Given the description of an element on the screen output the (x, y) to click on. 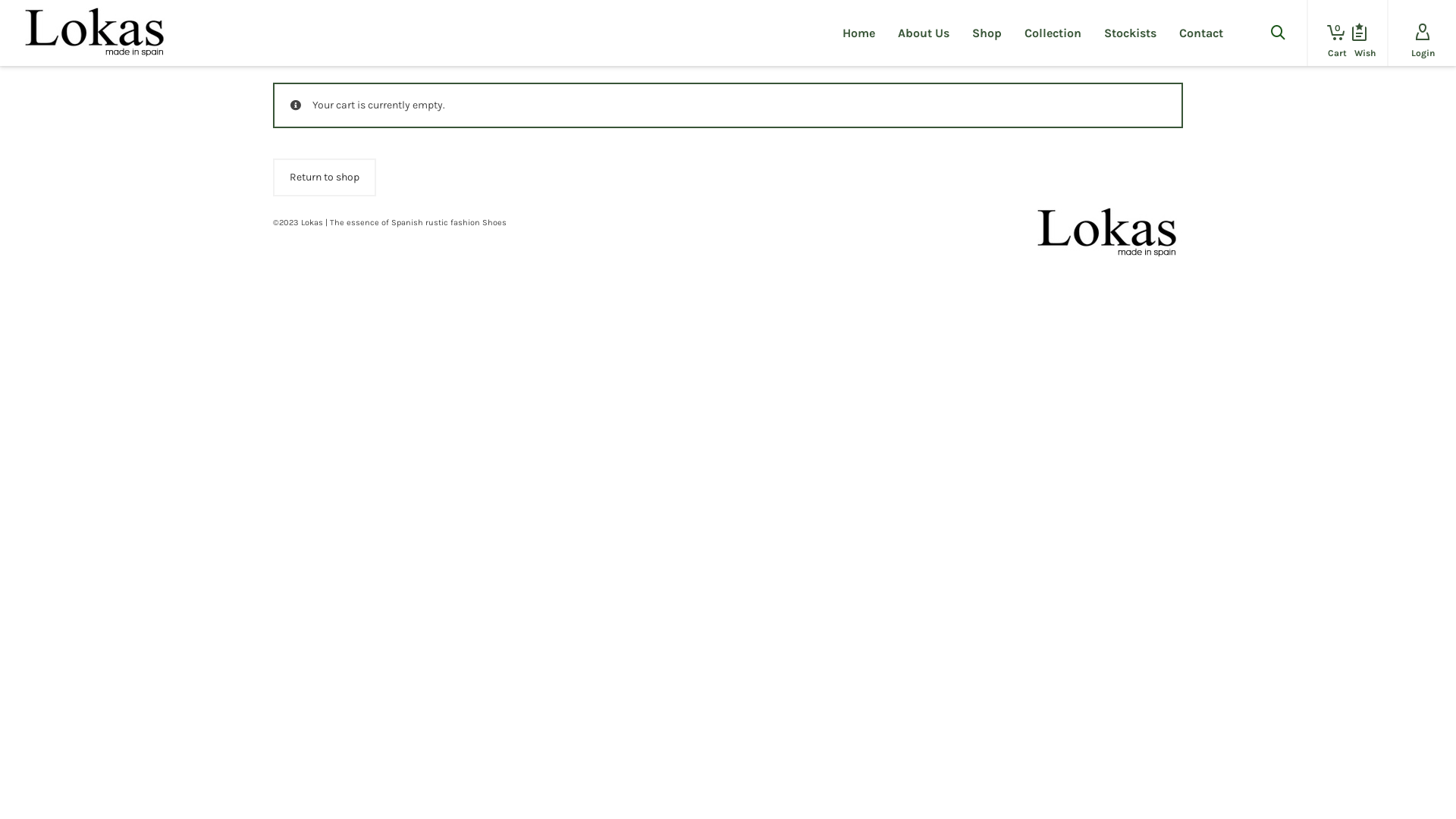
View your wishlist Element type: hover (1359, 32)
Shop Element type: text (986, 32)
Home Element type: text (858, 32)
Return to shop Element type: text (324, 177)
0 Element type: text (1331, 32)
Stockists Element type: text (1129, 32)
Collection Element type: text (1052, 32)
About Us Element type: text (923, 32)
Contact Element type: text (1200, 32)
